Given the description of an element on the screen output the (x, y) to click on. 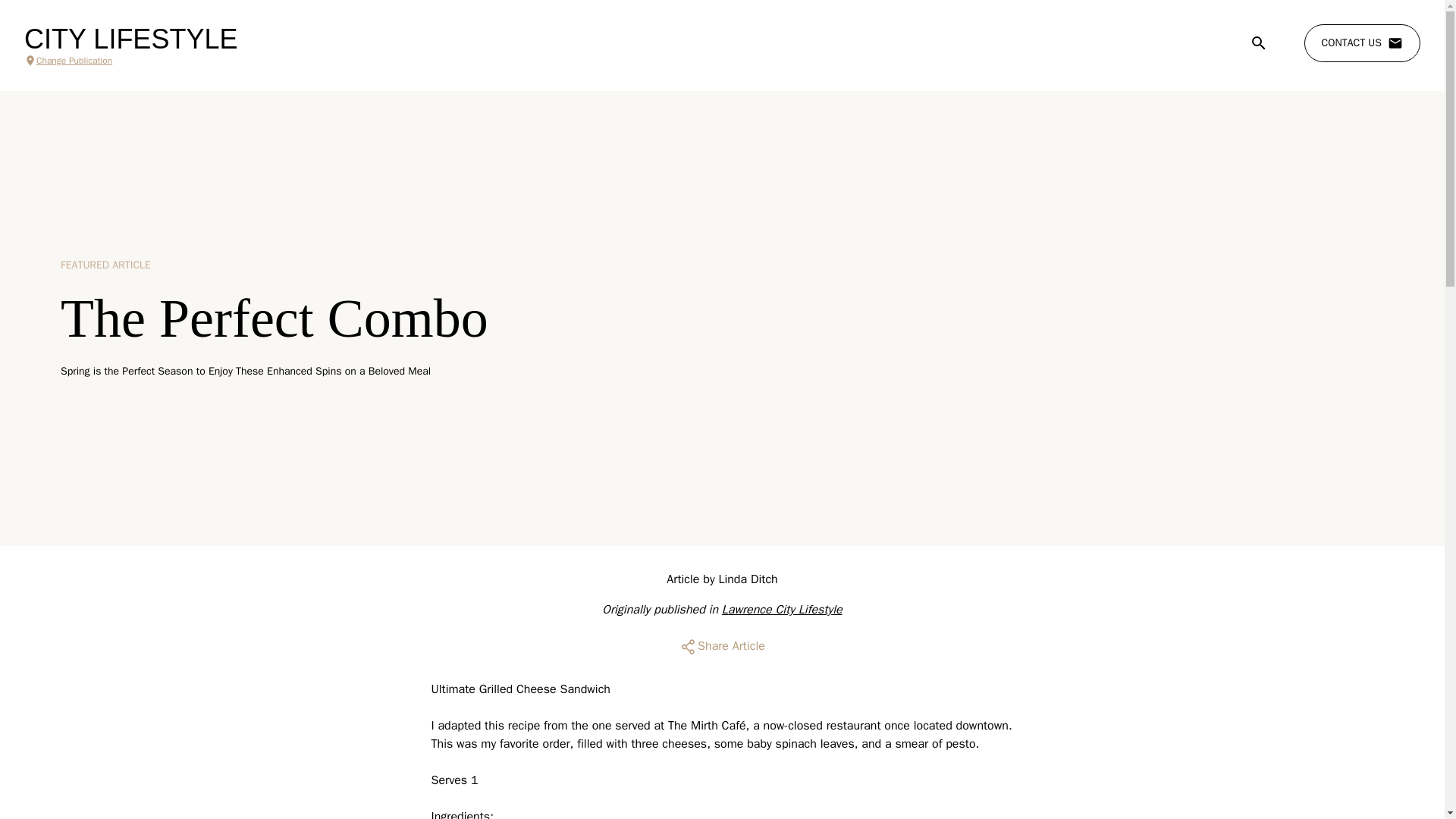
Share Article (722, 646)
Change Publication (130, 60)
CITY LIFESTYLE (130, 39)
Lawrence City Lifestyle (782, 609)
CONTACT US (1362, 43)
